Given the description of an element on the screen output the (x, y) to click on. 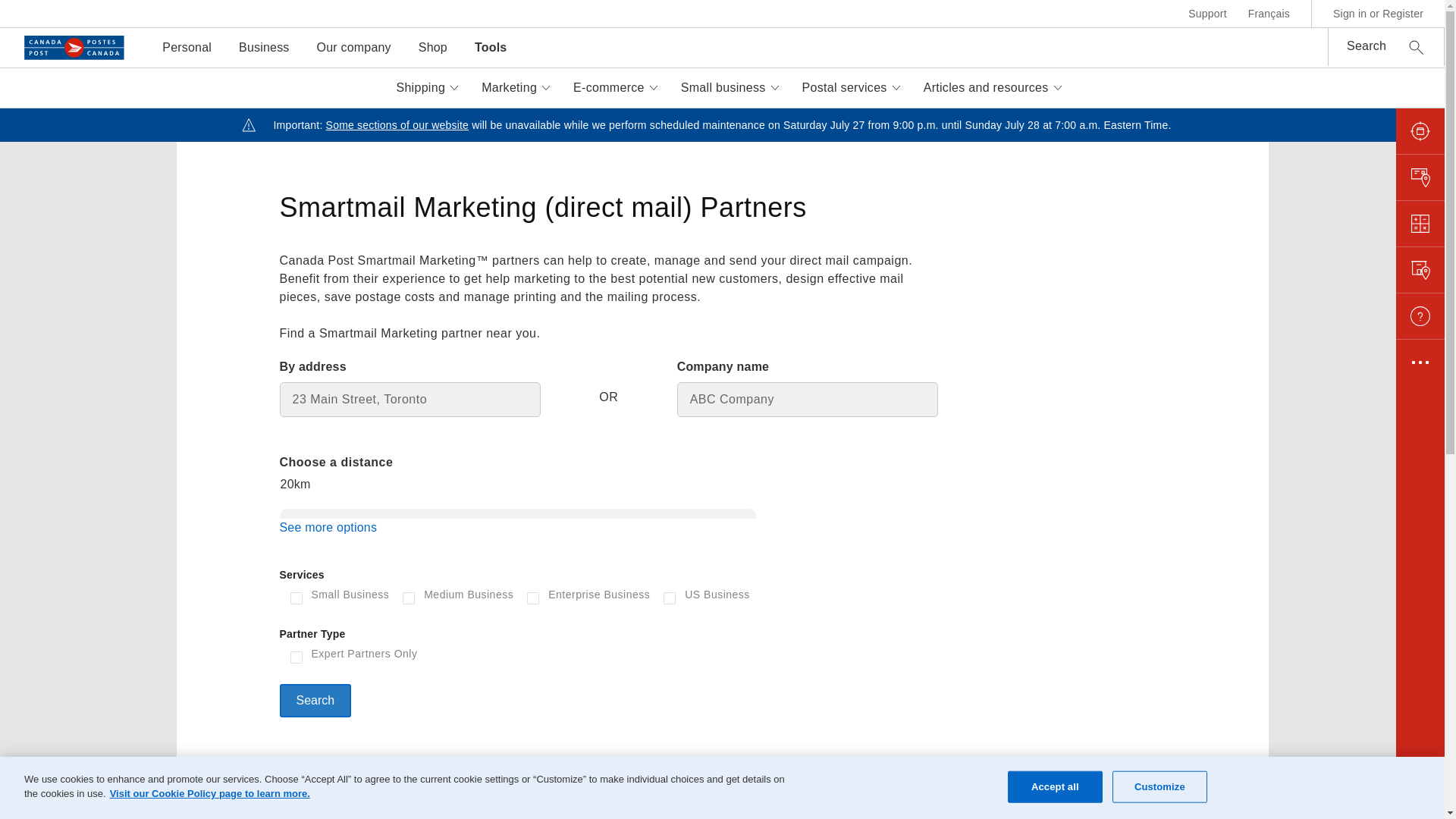
Ship internationally (722, 218)
Track and find (1041, 218)
Shipping Manager (402, 501)
Find a rate and ship (402, 266)
Support (1206, 13)
Estimate duties and taxes (722, 347)
Find a delivery standard (1041, 402)
Find a postal code (1041, 293)
Package Redirection (1041, 429)
Shop (432, 47)
Our company (353, 47)
Snap Ship (402, 474)
 Third-party shipping software (402, 375)
Business (263, 47)
Access our quick tools (402, 427)
